Given the description of an element on the screen output the (x, y) to click on. 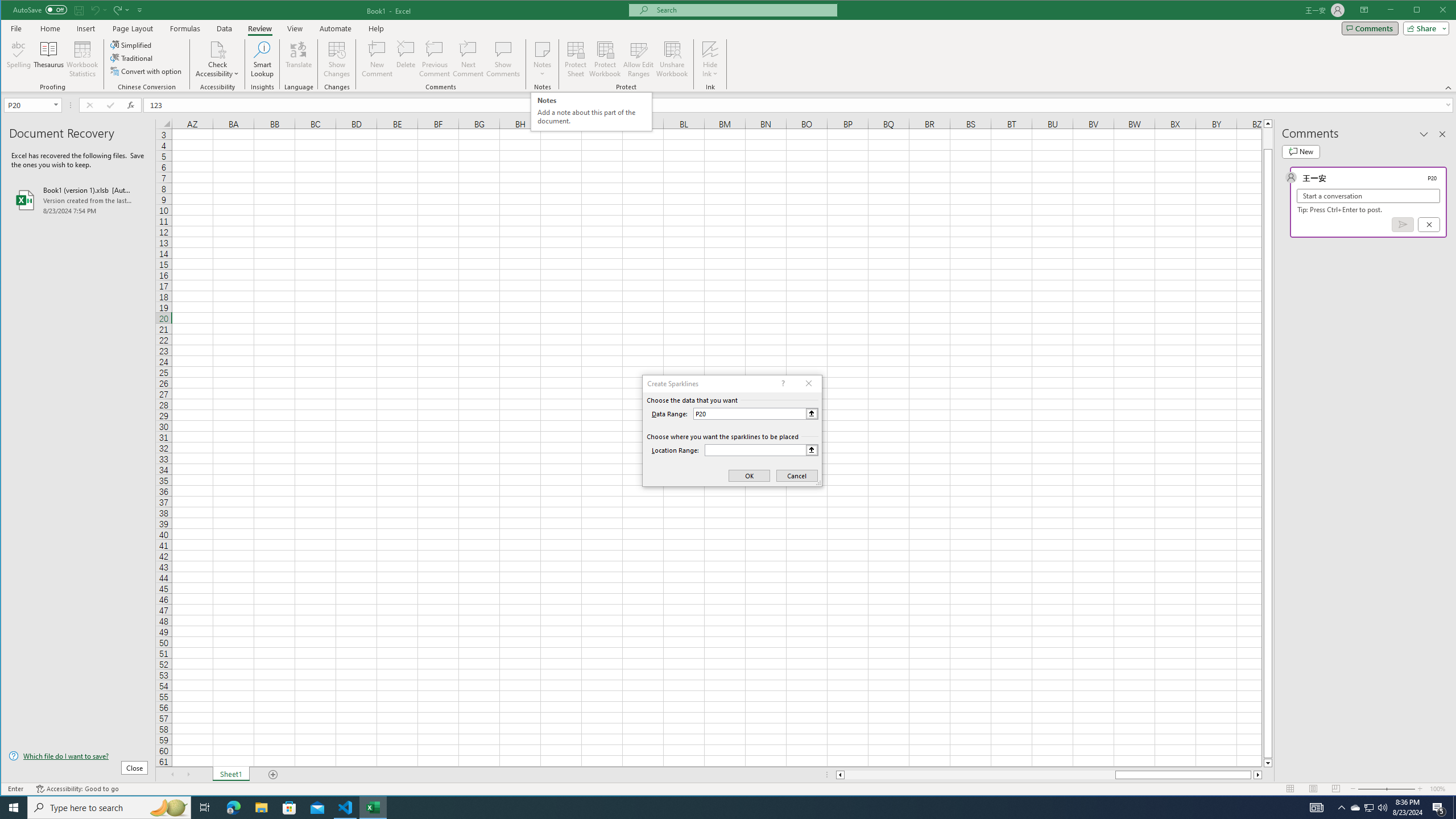
Unshare Workbook (671, 59)
Delete (405, 59)
Show Changes (335, 59)
Page up (1267, 138)
Workbook Statistics (82, 59)
